Given the description of an element on the screen output the (x, y) to click on. 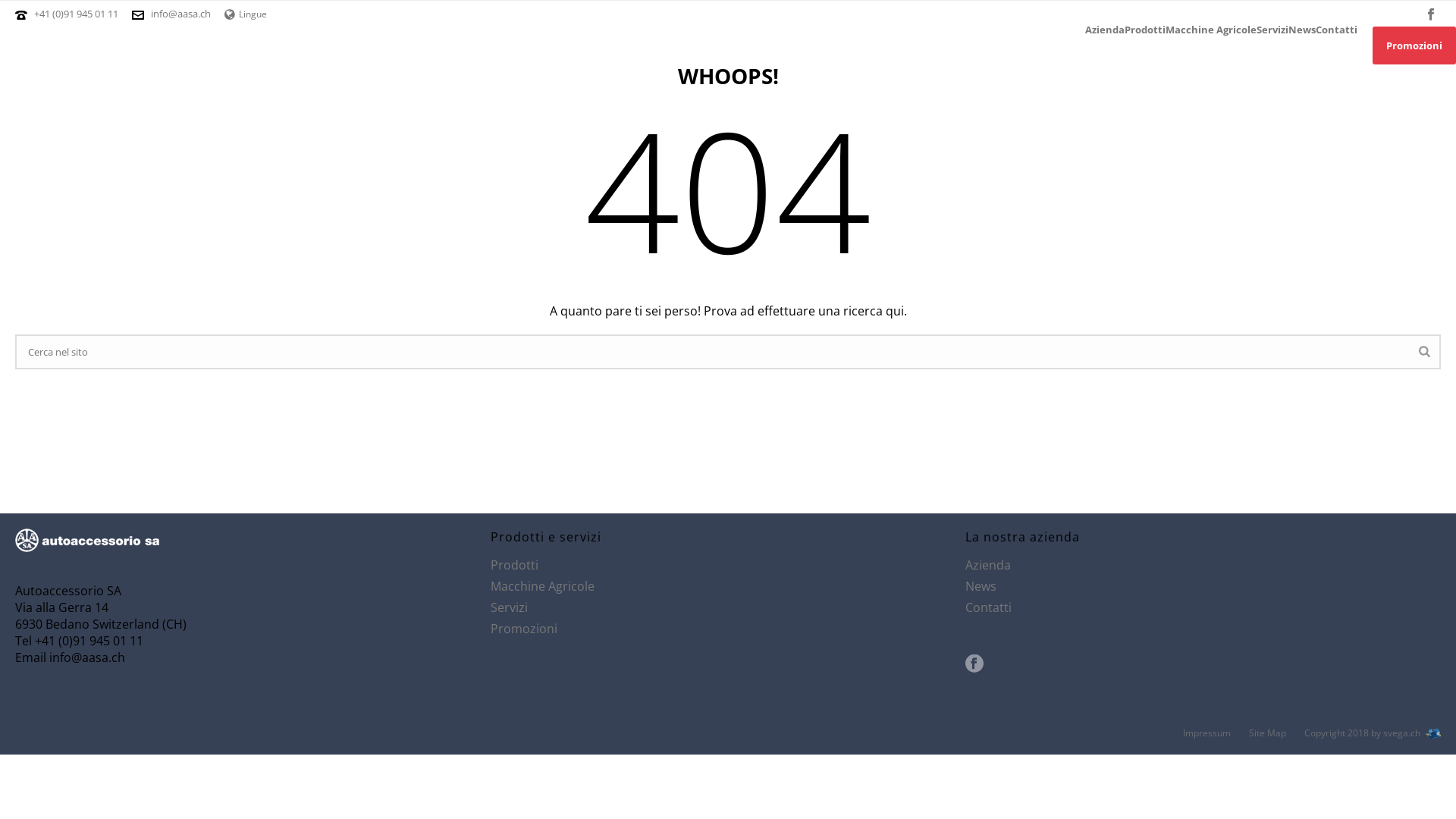
+41 (0)91 945 01 11 Element type: text (77, 13)
Macchine Agricole Element type: text (542, 586)
info@aasa.ch Element type: text (180, 13)
Servizi Element type: text (508, 607)
Azienda Element type: text (987, 564)
Promozioni Element type: text (523, 628)
Servizi Element type: text (1272, 29)
Seguici su facebook Element type: hover (974, 664)
Copyright 2018 by svega.ch Element type: text (1375, 733)
Site Map Element type: text (1267, 733)
Azienda Element type: text (1104, 29)
Contatti Element type: text (988, 607)
Macchine Agricole Element type: text (1210, 29)
News Element type: text (1301, 29)
Lingue Element type: text (245, 13)
Prodotti Element type: text (514, 564)
Prodotti Element type: text (1144, 29)
Impressum Element type: text (1206, 733)
Contatti Element type: text (1336, 29)
News Element type: text (980, 586)
